Given the description of an element on the screen output the (x, y) to click on. 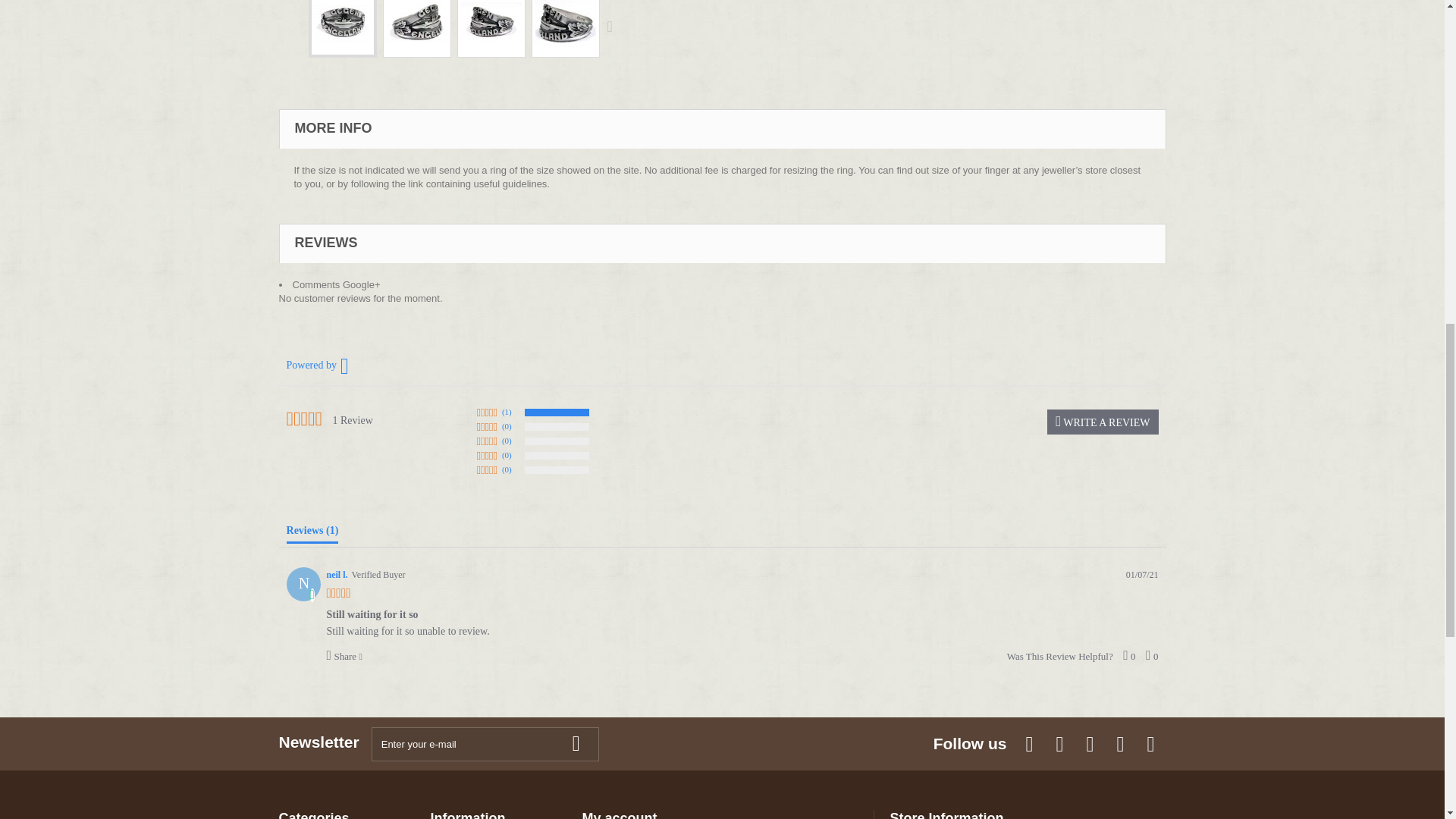
Enter your e-mail (484, 744)
